Given the description of an element on the screen output the (x, y) to click on. 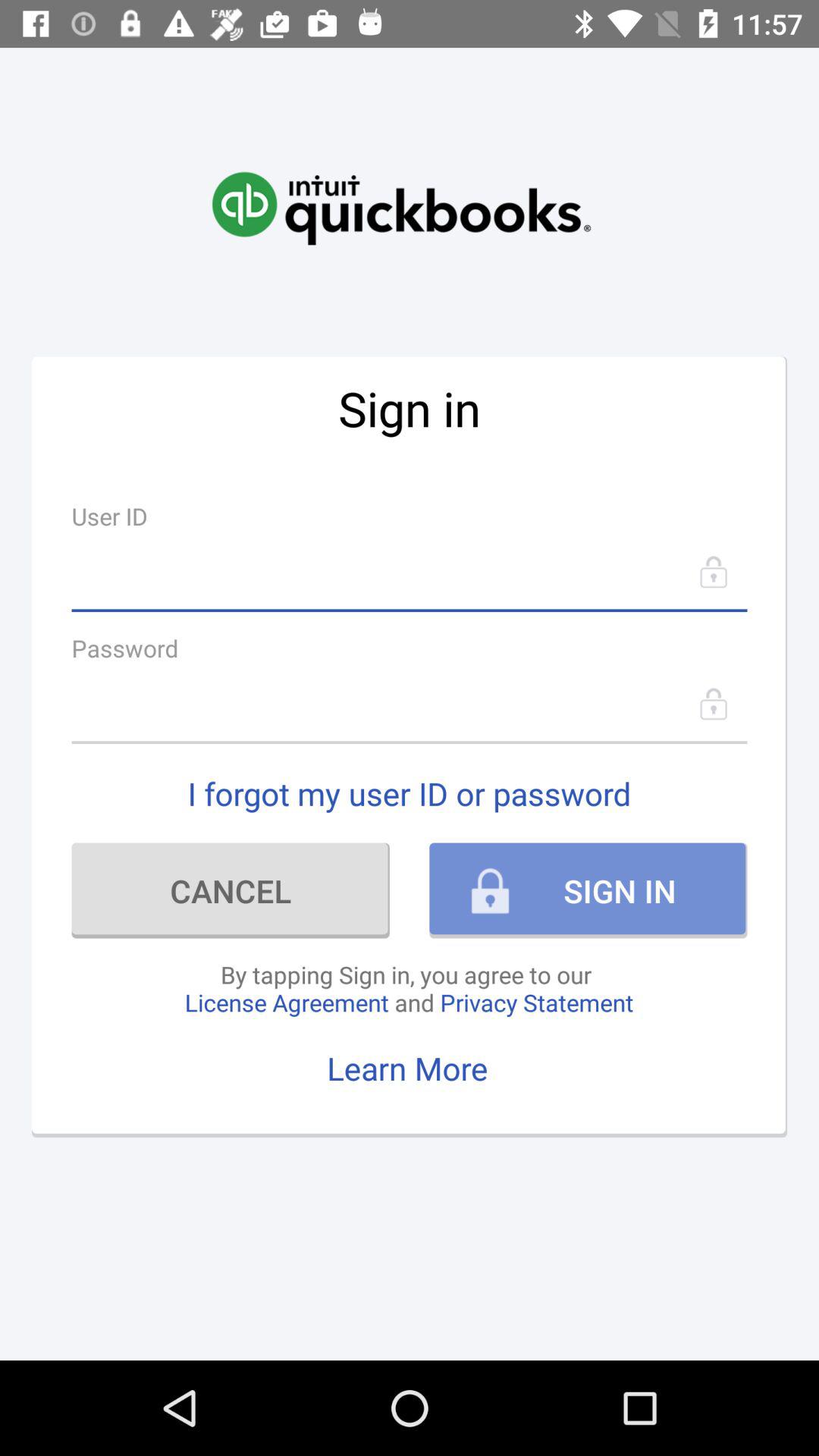
jump until by tapping sign item (408, 988)
